Given the description of an element on the screen output the (x, y) to click on. 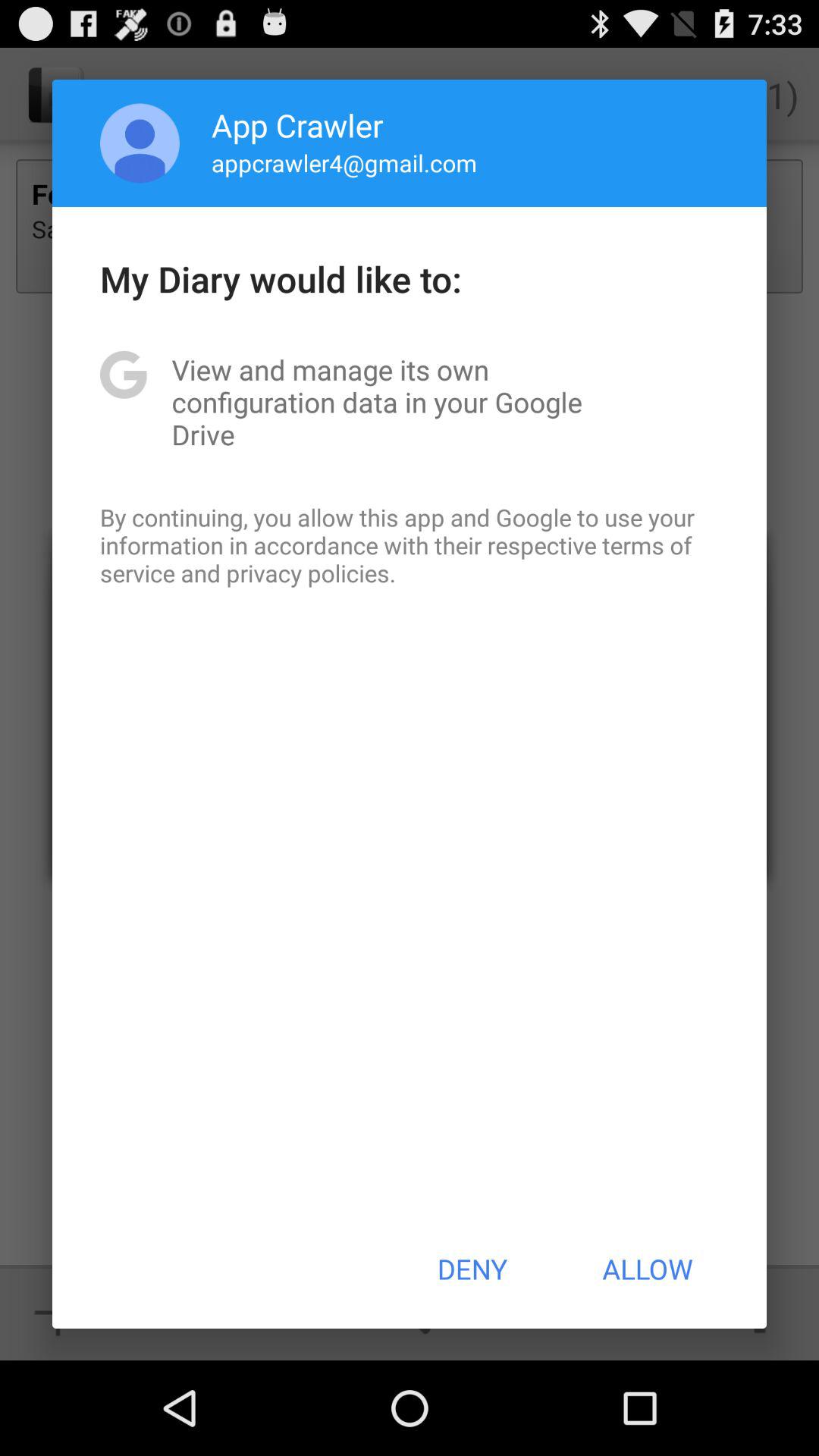
select the deny button (471, 1268)
